Given the description of an element on the screen output the (x, y) to click on. 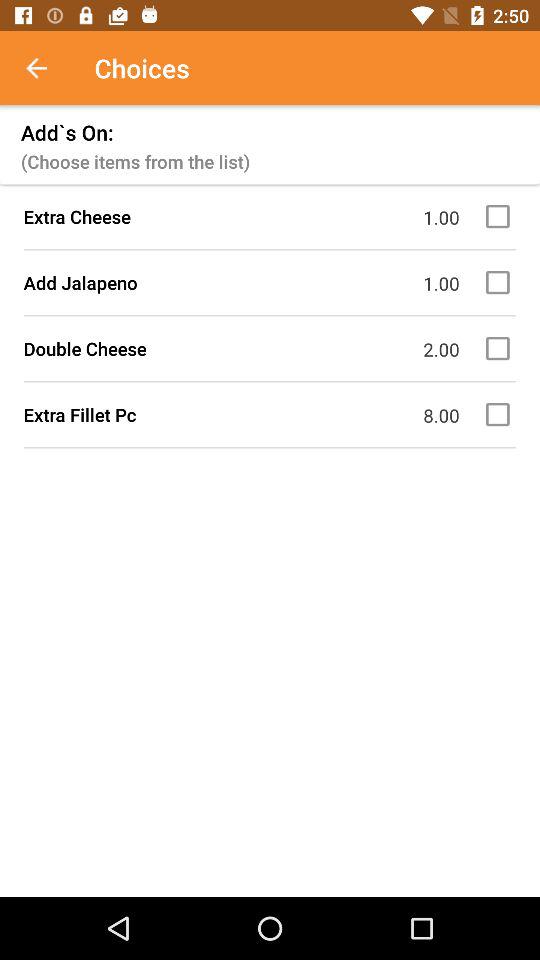
eaxtra fillet (501, 414)
